Given the description of an element on the screen output the (x, y) to click on. 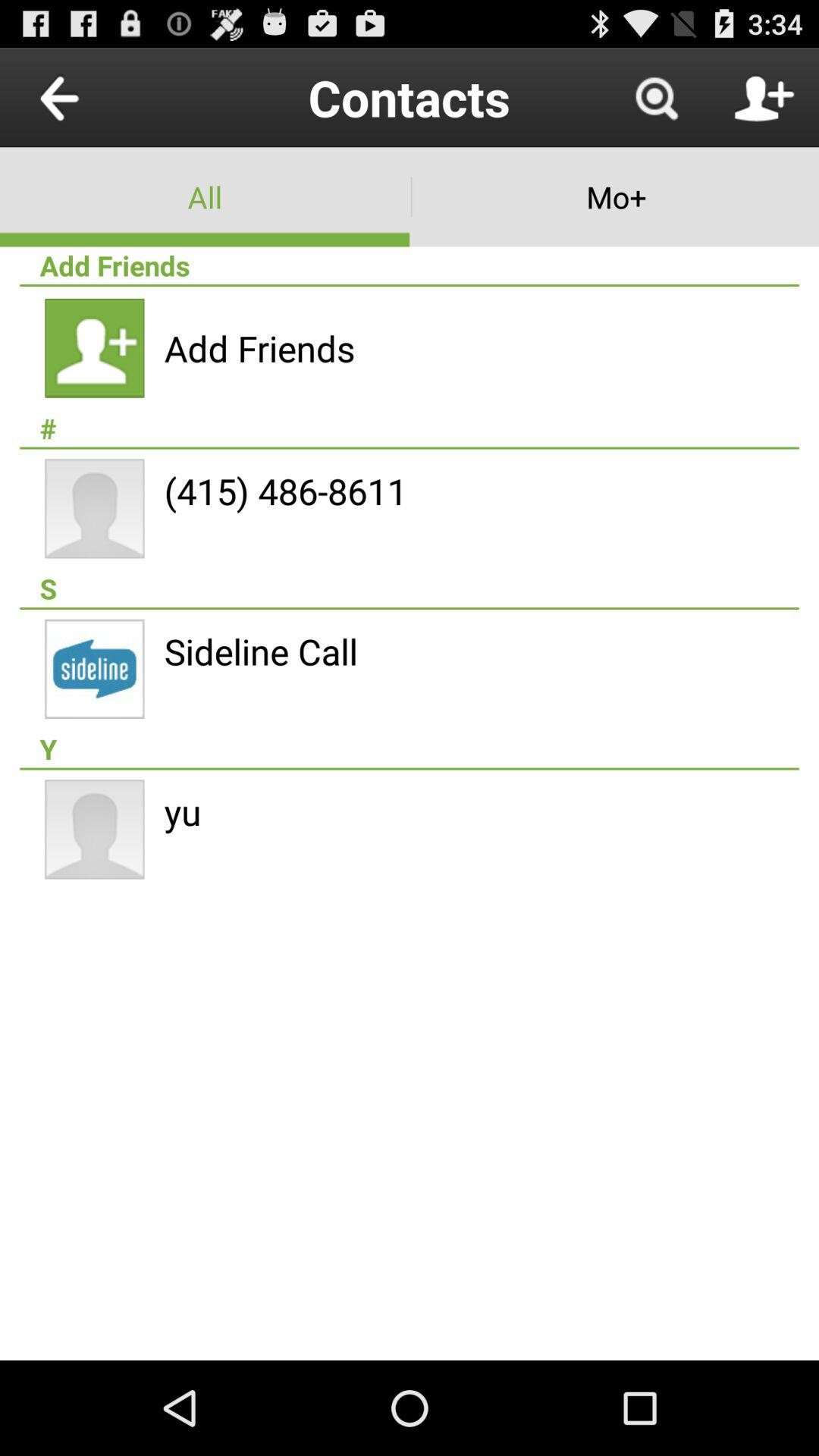
add new contact (764, 97)
